Given the description of an element on the screen output the (x, y) to click on. 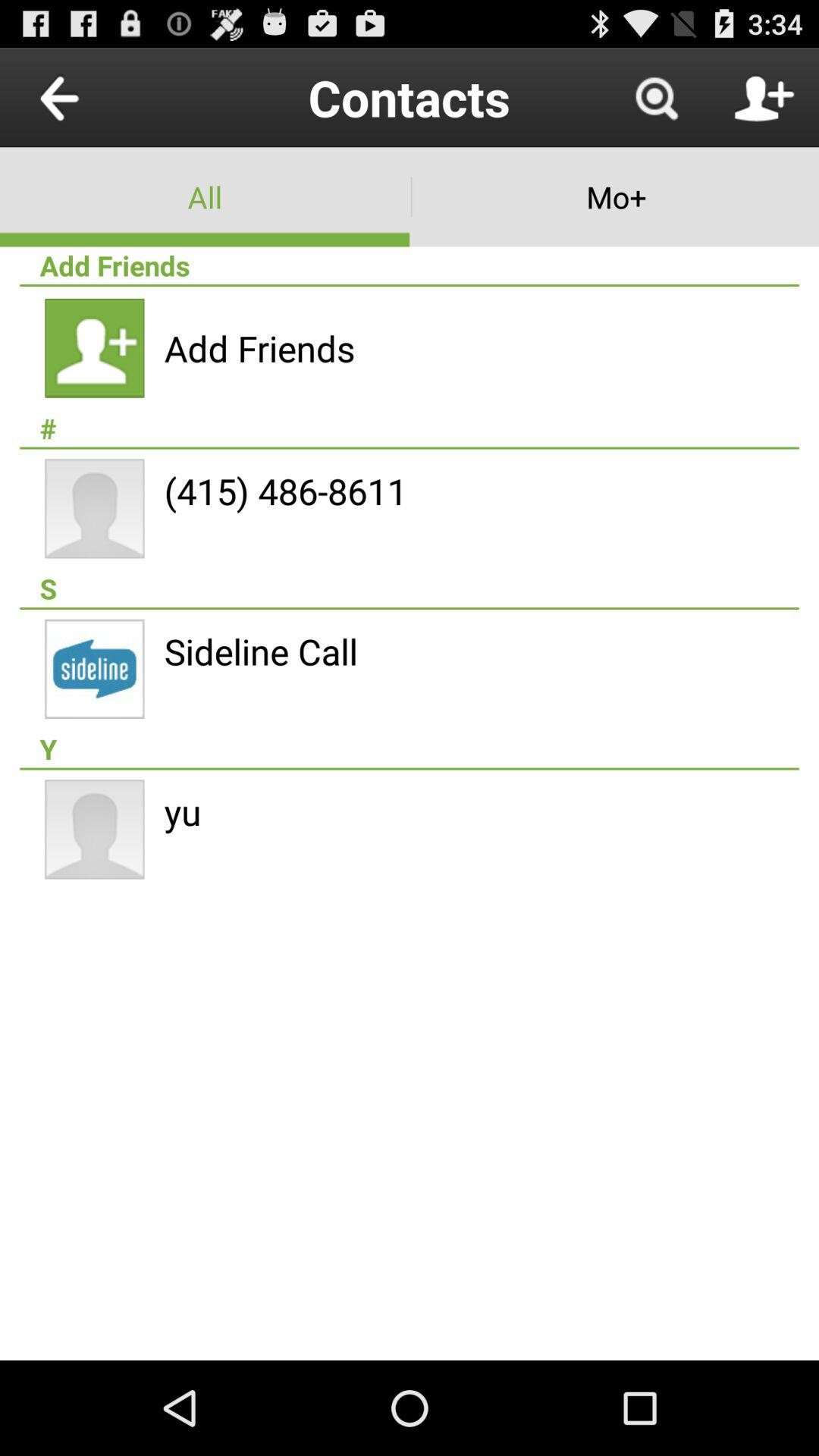
add new contact (764, 97)
